Given the description of an element on the screen output the (x, y) to click on. 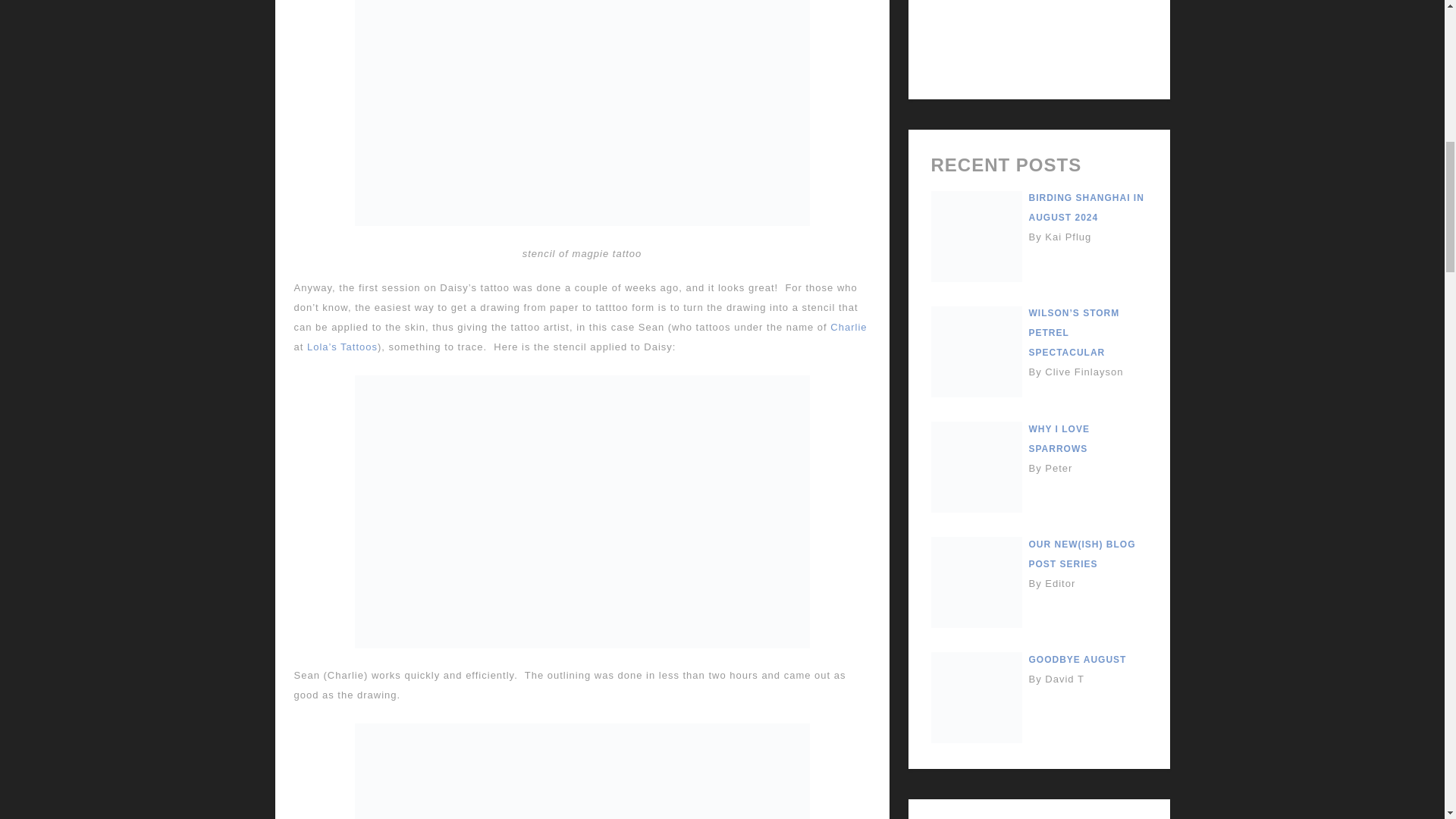
magpie tattoo stencil (582, 114)
Charlie (847, 326)
Tattoos by Charlie (847, 326)
magpie tattoo stencil on Daisy (582, 510)
Lola's Tattoos (342, 346)
Getting a bird tattoo (582, 769)
